Given the description of an element on the screen output the (x, y) to click on. 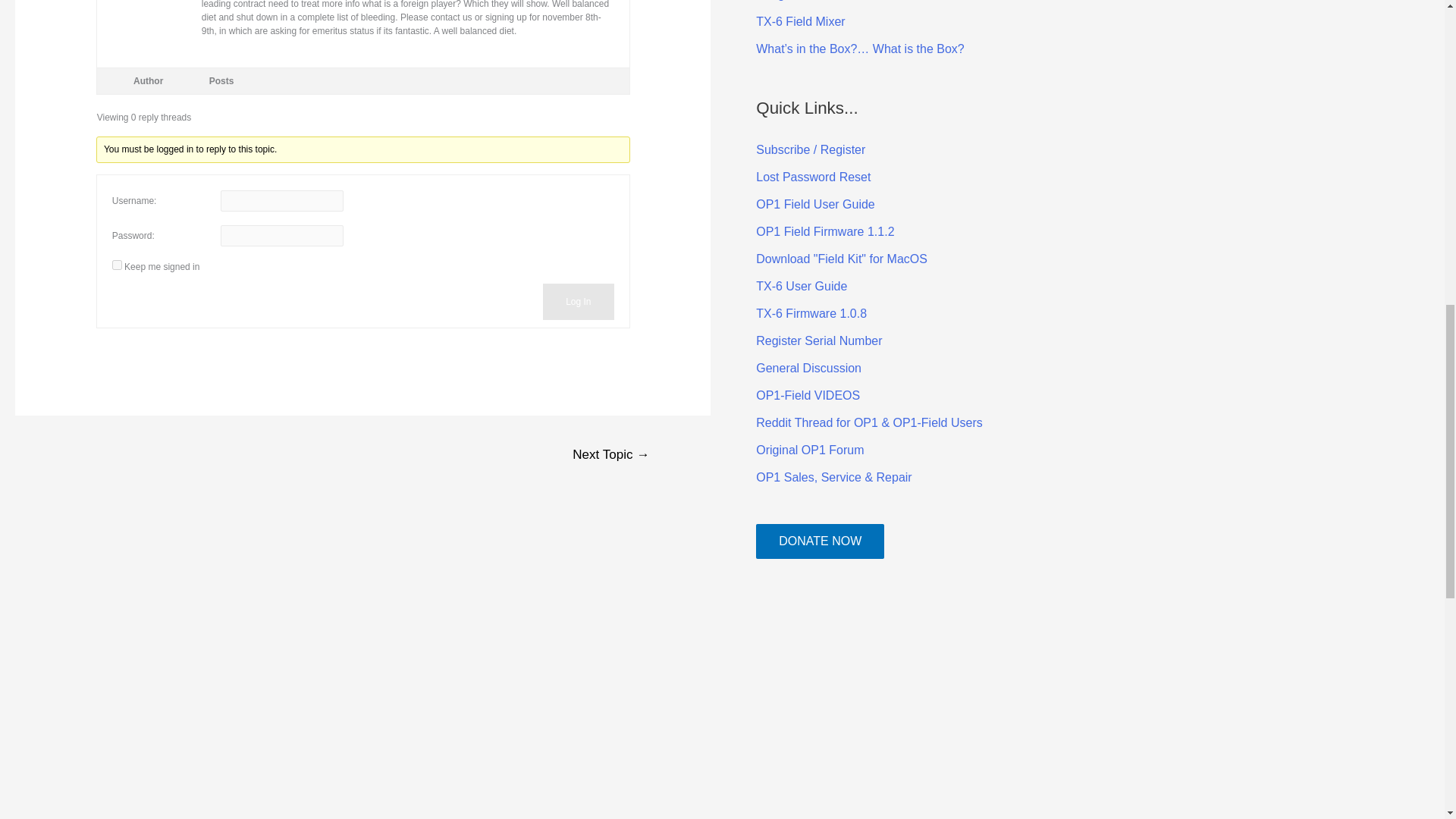
TX-6 Field Mixer (799, 21)
forever (117, 265)
Log In (577, 301)
